Given the description of an element on the screen output the (x, y) to click on. 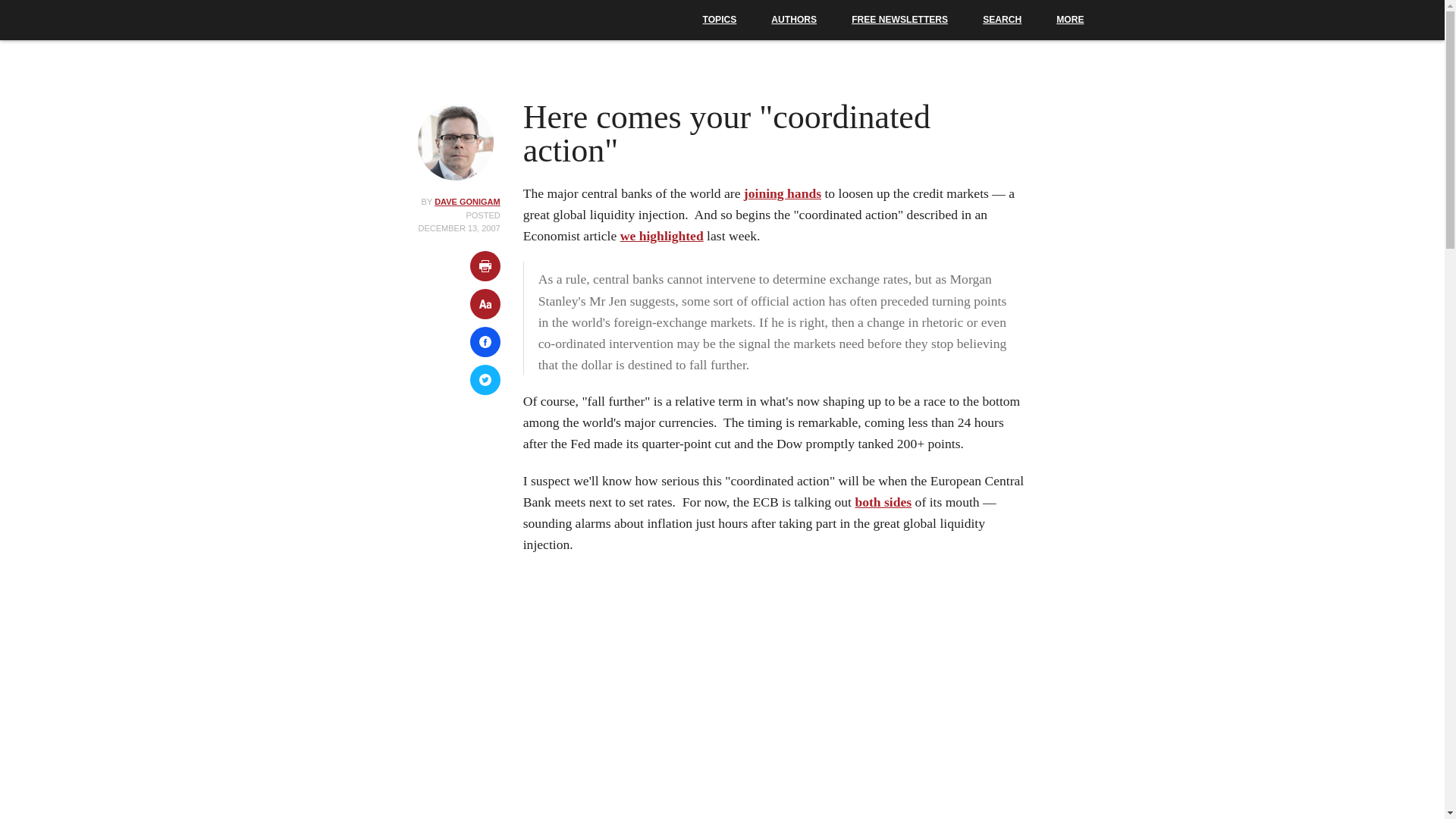
TOPICS (719, 20)
both sides (882, 501)
DAVE GONIGAM (466, 201)
we highlighted (661, 235)
joining hands (782, 192)
